Given the description of an element on the screen output the (x, y) to click on. 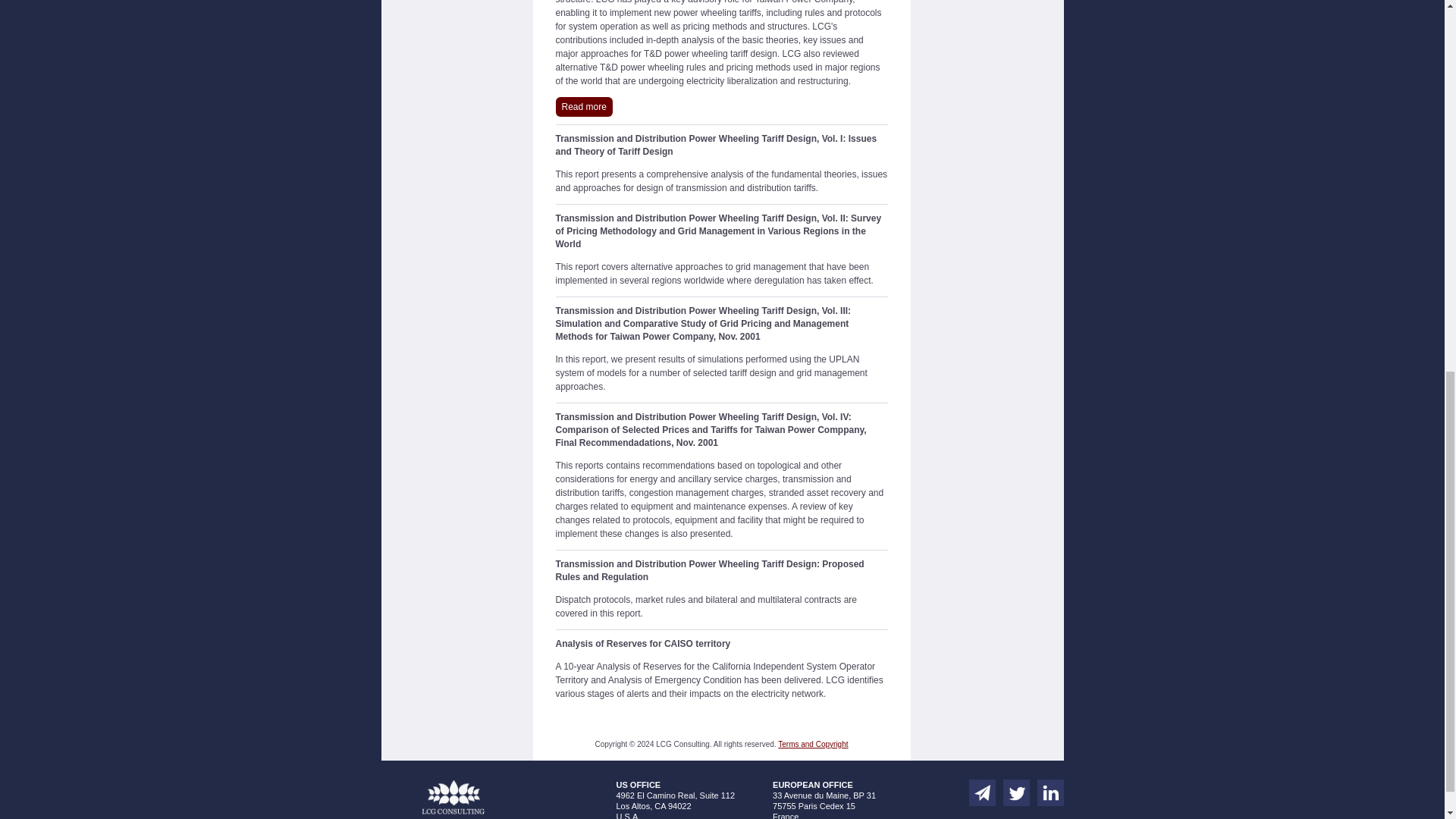
Send us an email (982, 792)
LCG on Twitter (1016, 792)
Read more (582, 107)
LCG on LinkedIn (1050, 792)
Terms and Copyright (812, 744)
